Given the description of an element on the screen output the (x, y) to click on. 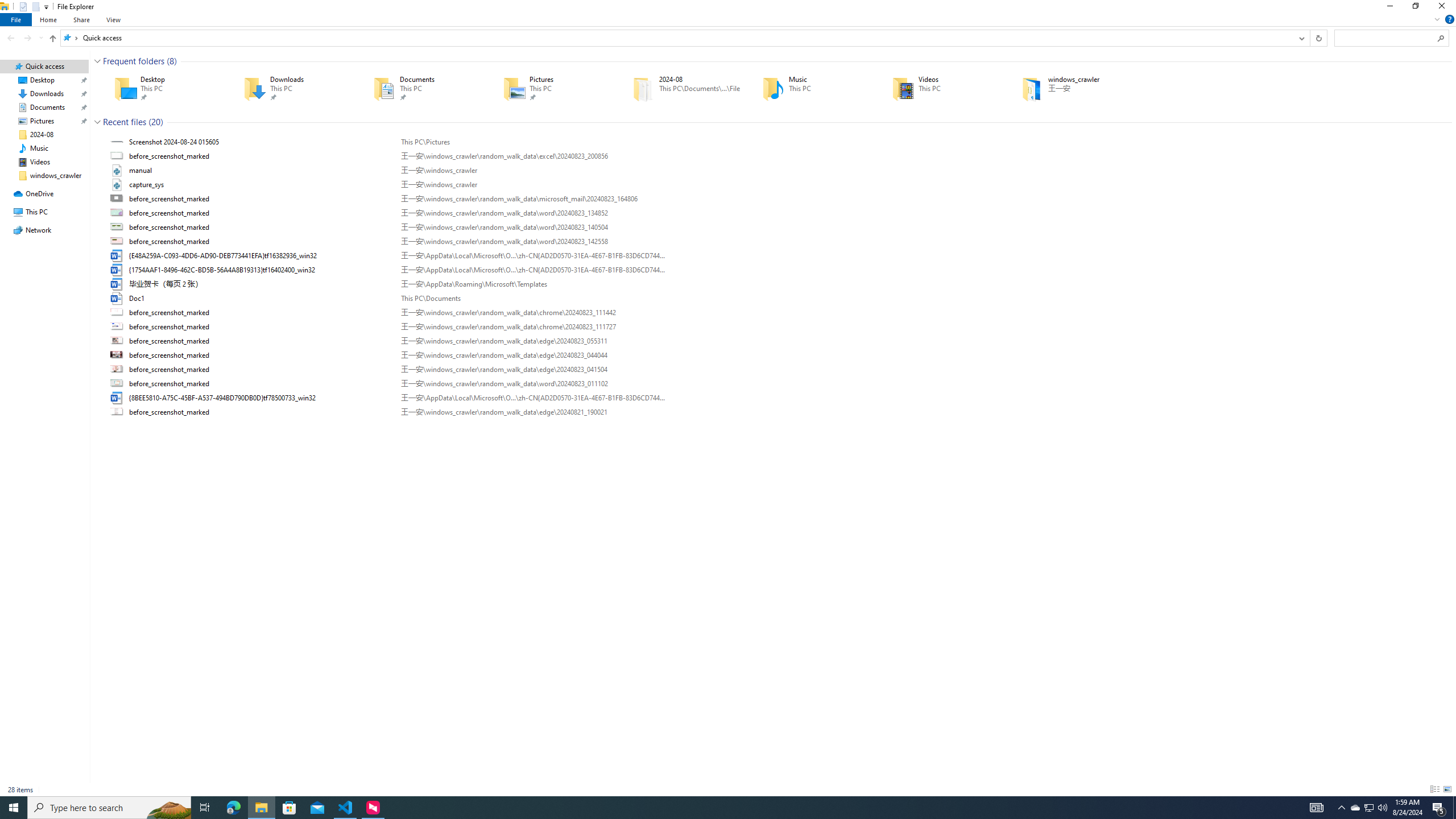
Home (48, 19)
Address band toolbar (1309, 37)
System (6, 6)
Details (1434, 789)
Previous Locations (1301, 37)
Recent locations (40, 37)
Back (Alt + Left Arrow) (10, 37)
Name (261, 411)
Minimize (1388, 8)
Navigation buttons (24, 37)
Quick access (101, 37)
Address: Quick access (676, 37)
windows_crawler (1070, 88)
Pictures (551, 88)
View (113, 19)
